Given the description of an element on the screen output the (x, y) to click on. 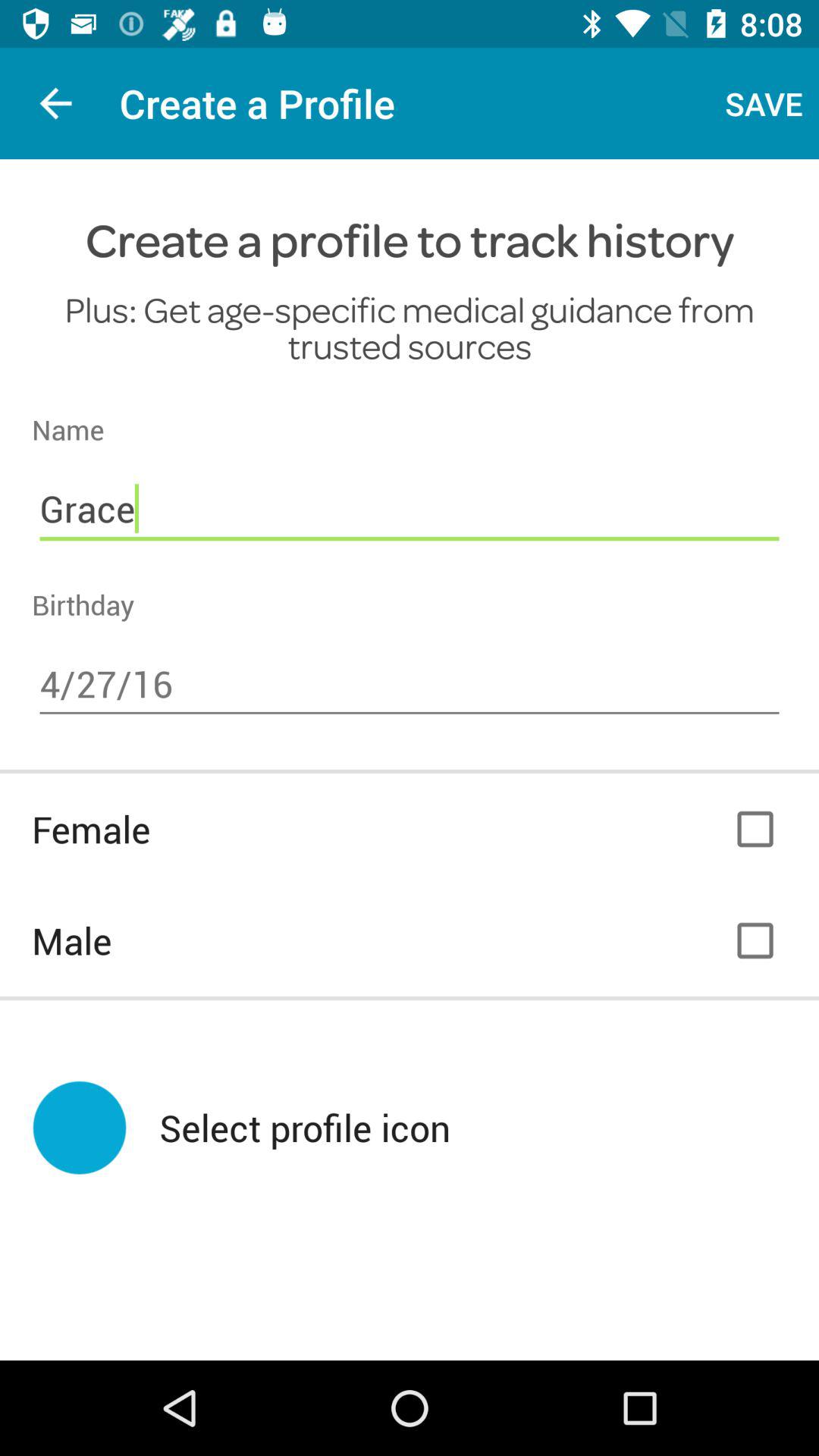
select option (755, 828)
